Given the description of an element on the screen output the (x, y) to click on. 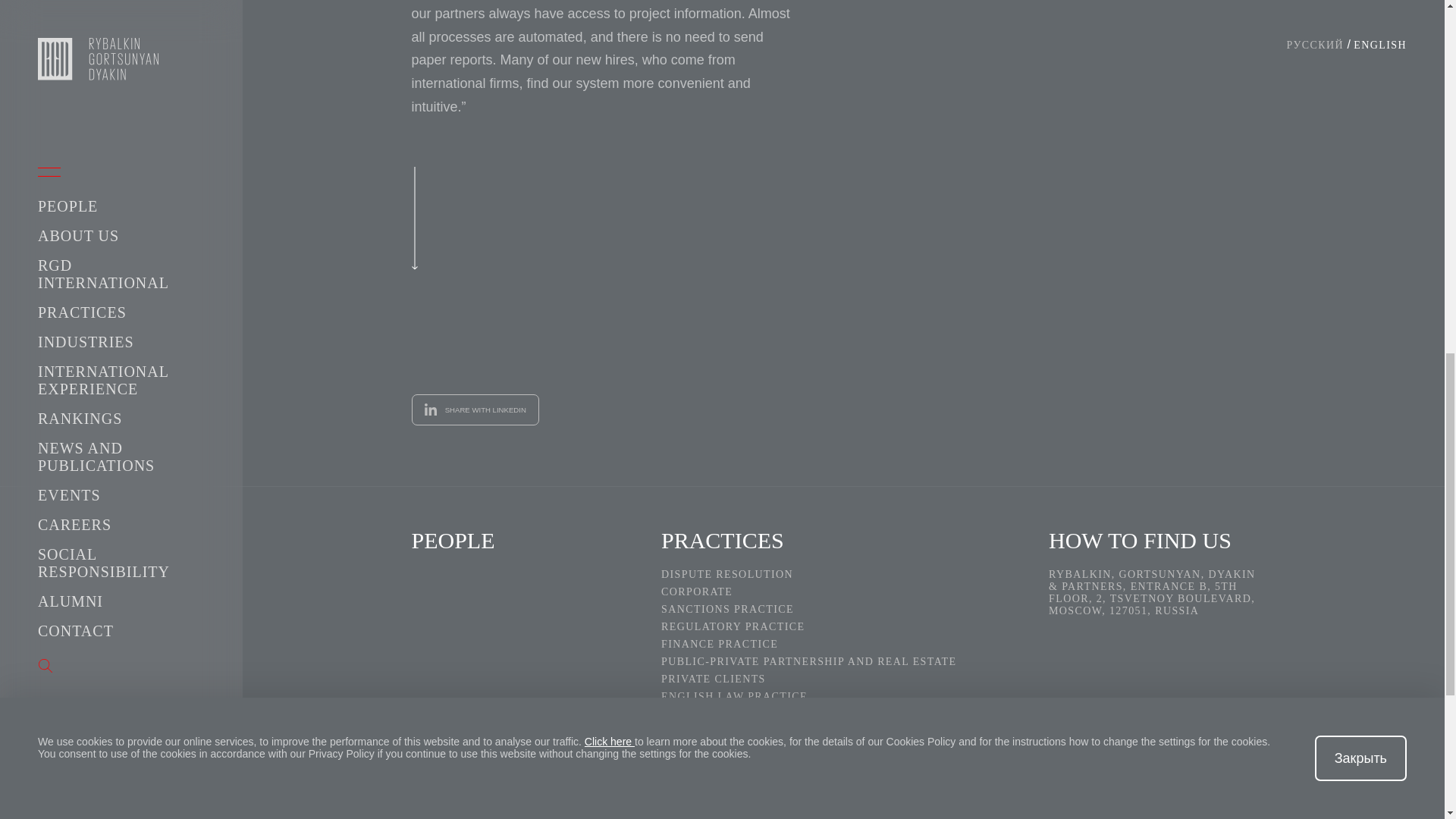
ENGLISH LAW PRACTICE (843, 696)
EMPLOYMENT LAW PRACTICE (843, 714)
IP LITIGATION (843, 731)
REGULATORY PRACTICE (843, 626)
FINANCE PRACTICE (843, 644)
SHARE WITH LINKEDIN (474, 409)
CORPORATE (843, 592)
DISPUTE RESOLUTION (843, 574)
FIRM (523, 782)
PEOPLE (523, 540)
